Given the description of an element on the screen output the (x, y) to click on. 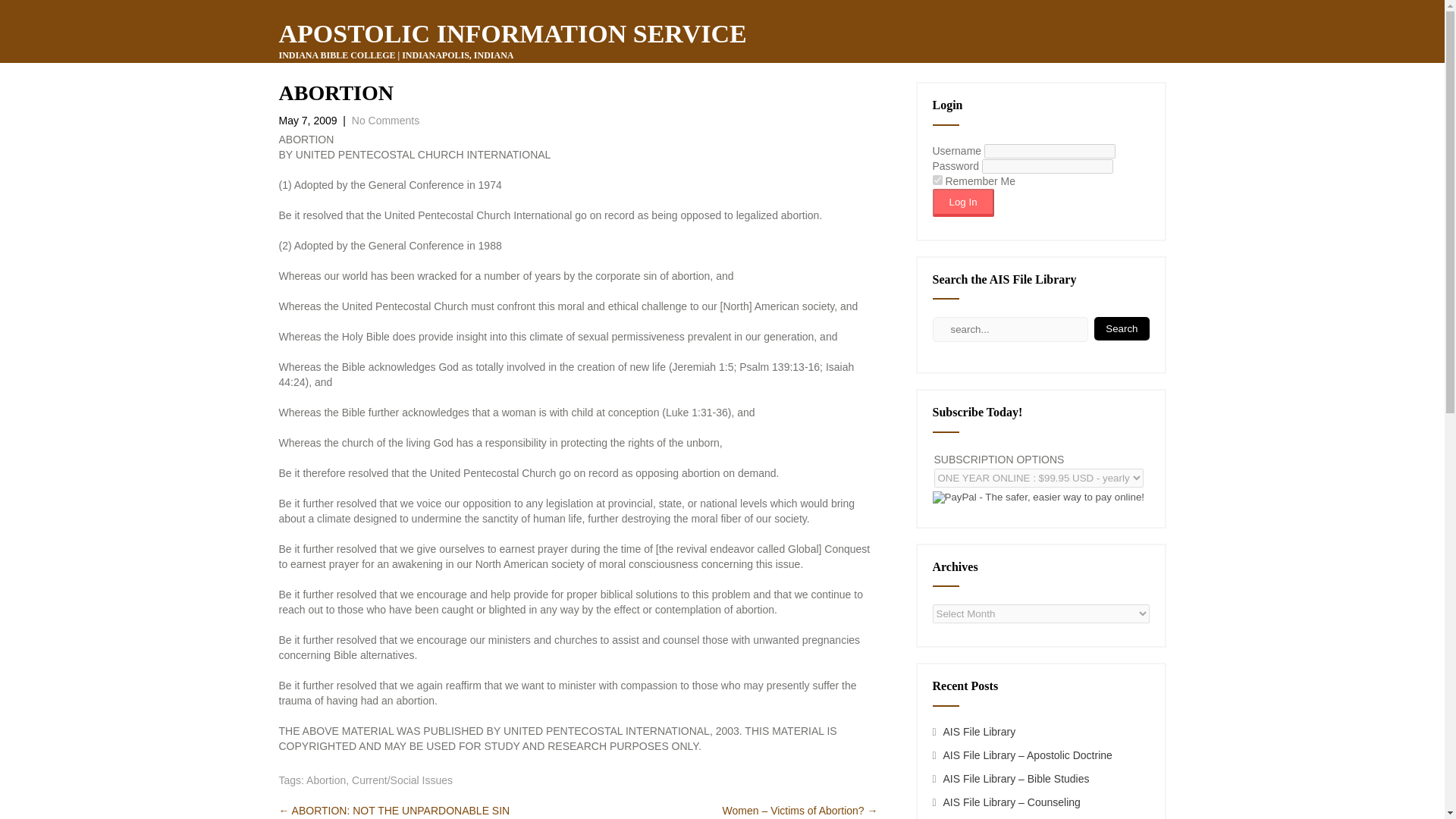
Search (1121, 328)
No Comments (385, 120)
Abortion (325, 779)
Search (1121, 328)
Search (1121, 328)
AIS File Library (979, 731)
forever (937, 180)
Log In (963, 203)
Log In (963, 203)
